Given the description of an element on the screen output the (x, y) to click on. 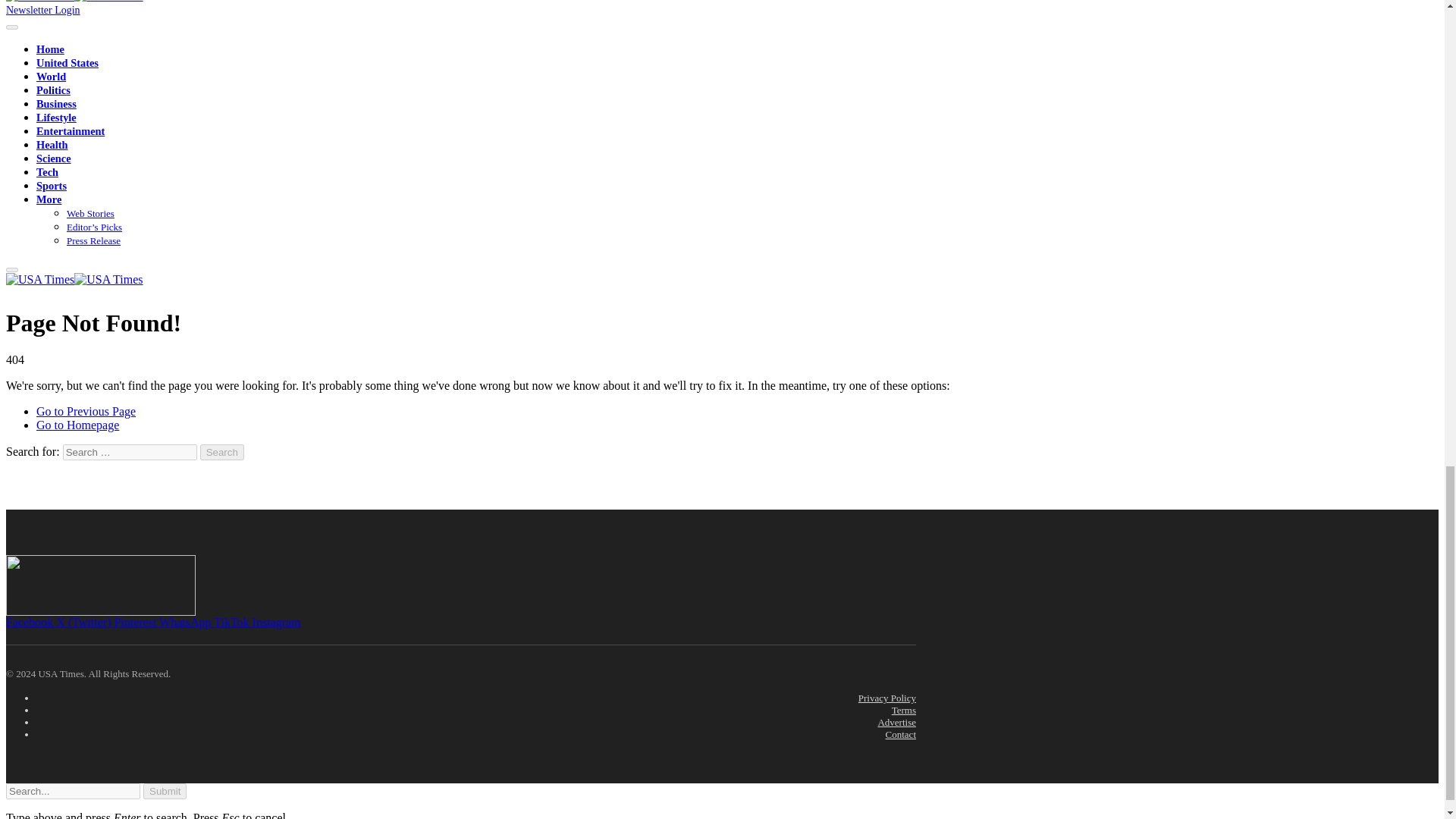
Search (222, 452)
Search (222, 452)
